Given the description of an element on the screen output the (x, y) to click on. 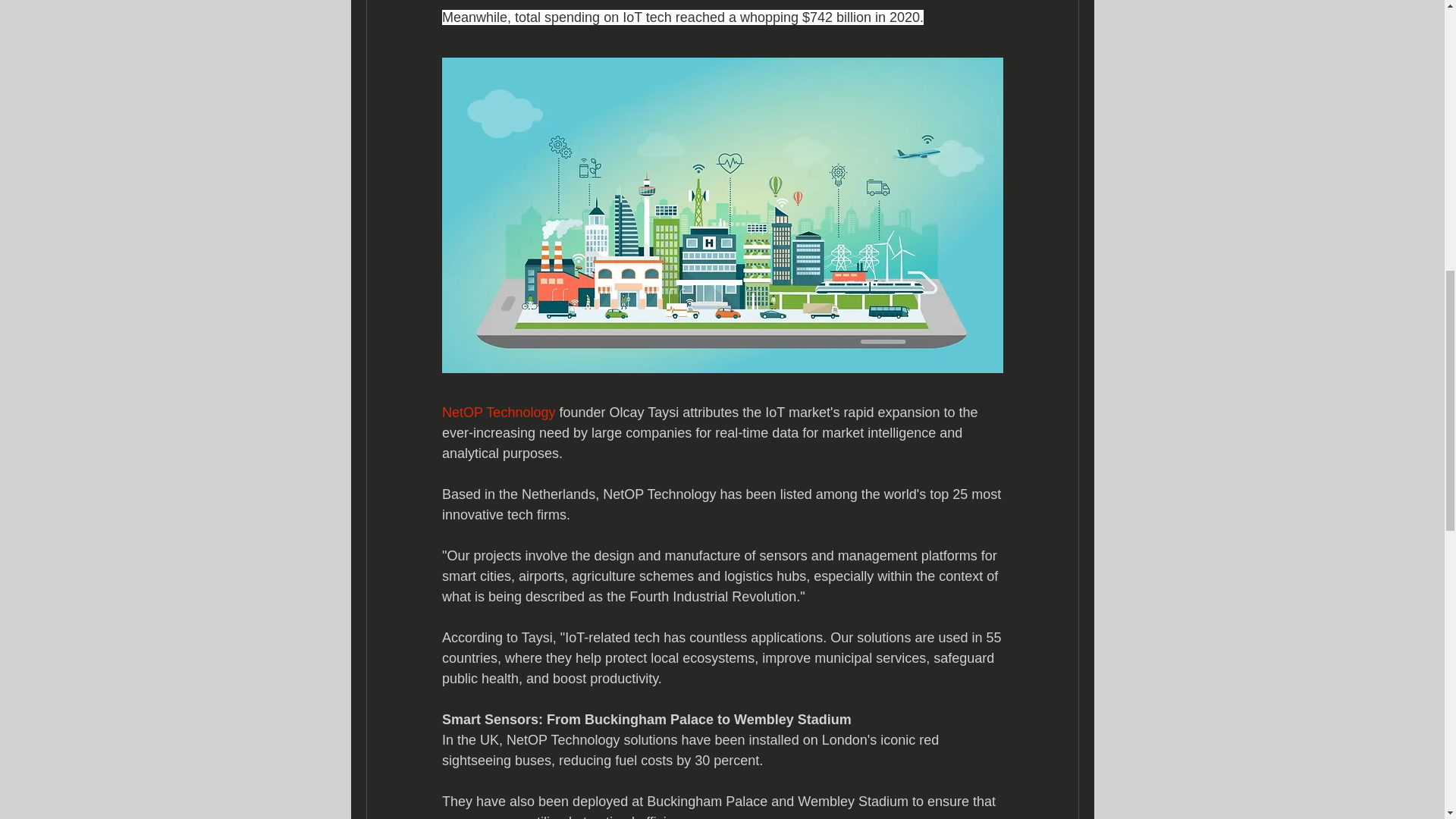
NetOP Technology (497, 412)
